Given the description of an element on the screen output the (x, y) to click on. 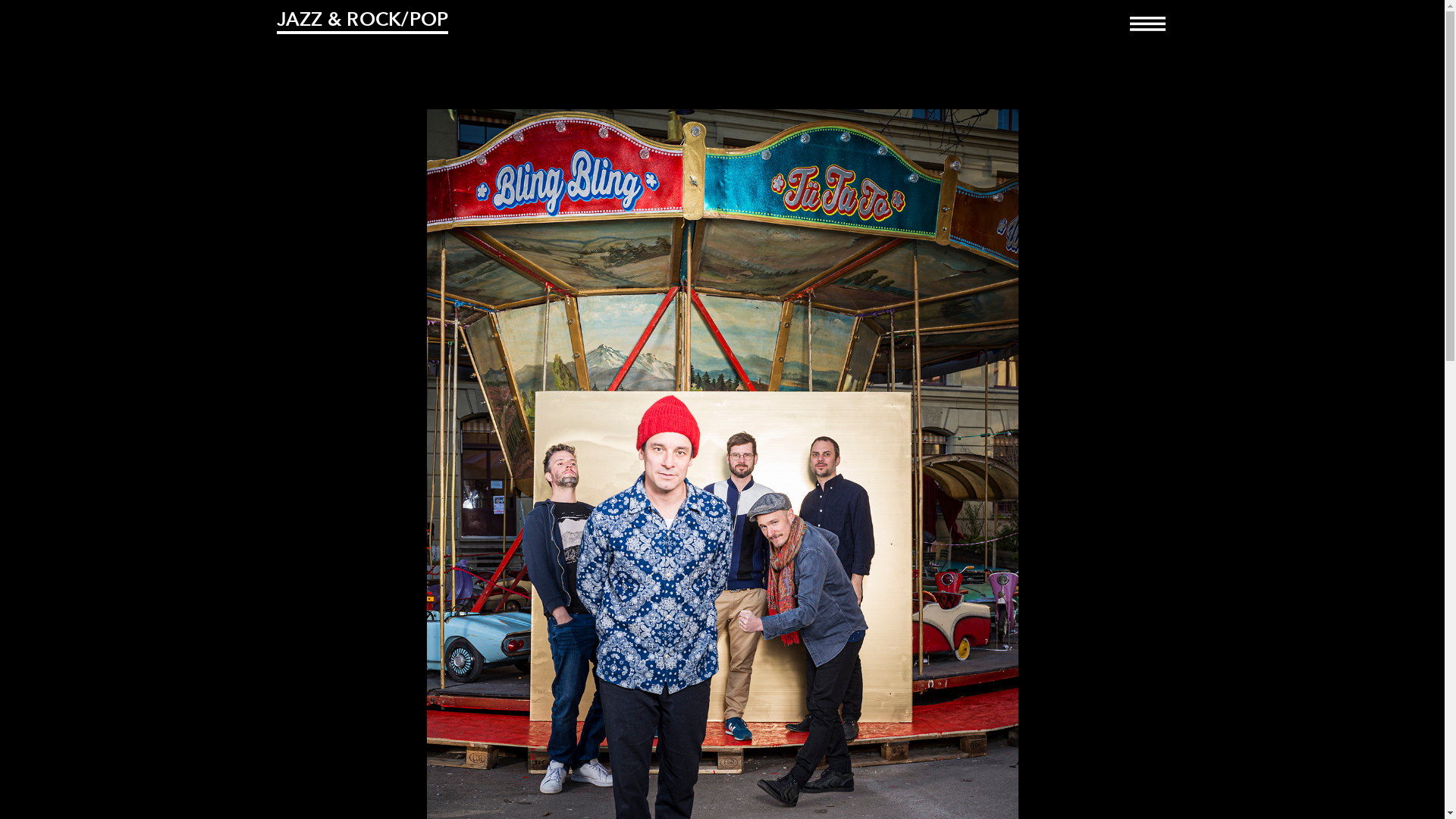
JAZZ & ROCK/POP Element type: text (362, 20)
